Given the description of an element on the screen output the (x, y) to click on. 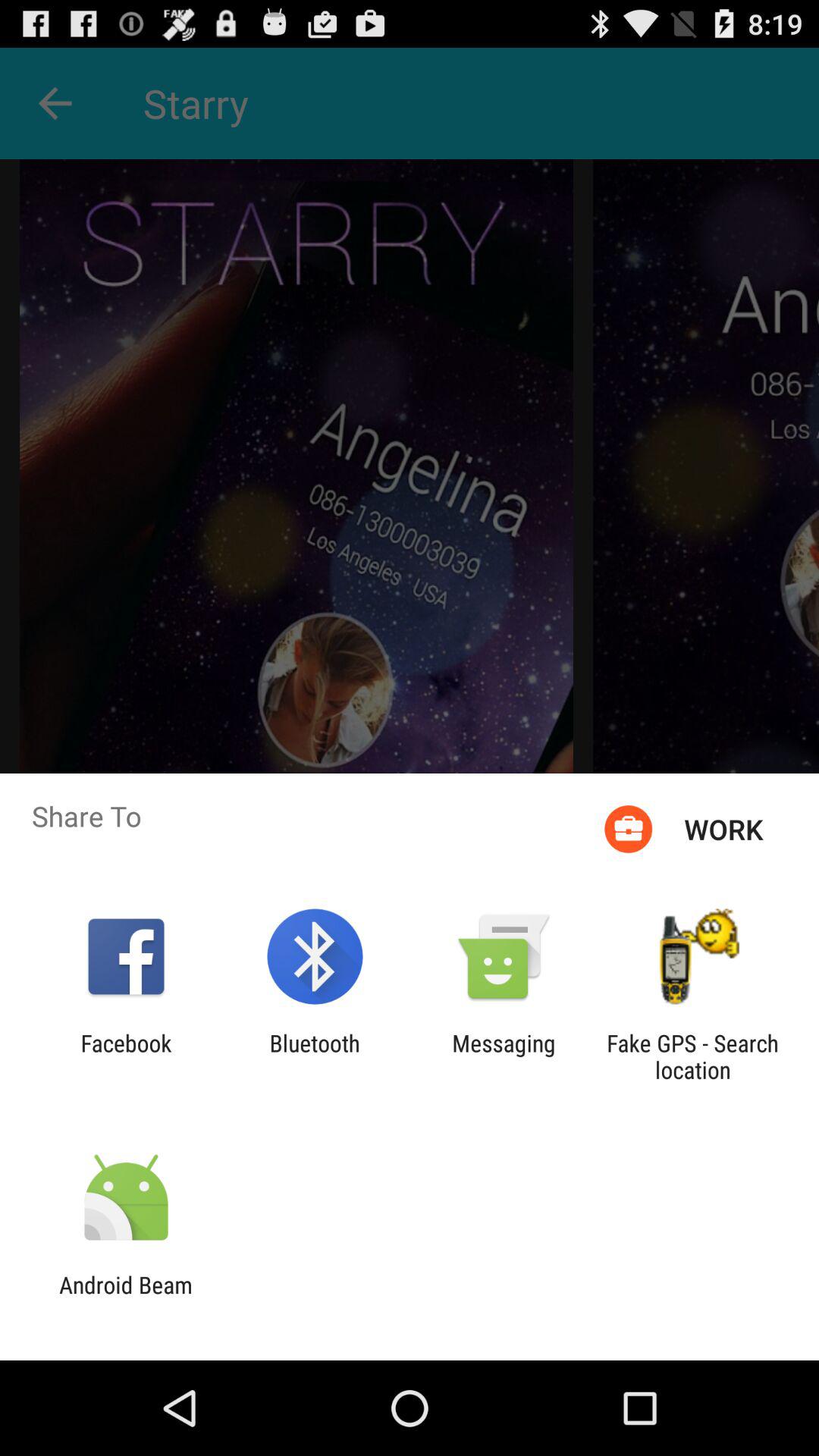
tap the app next to the fake gps search item (503, 1056)
